Given the description of an element on the screen output the (x, y) to click on. 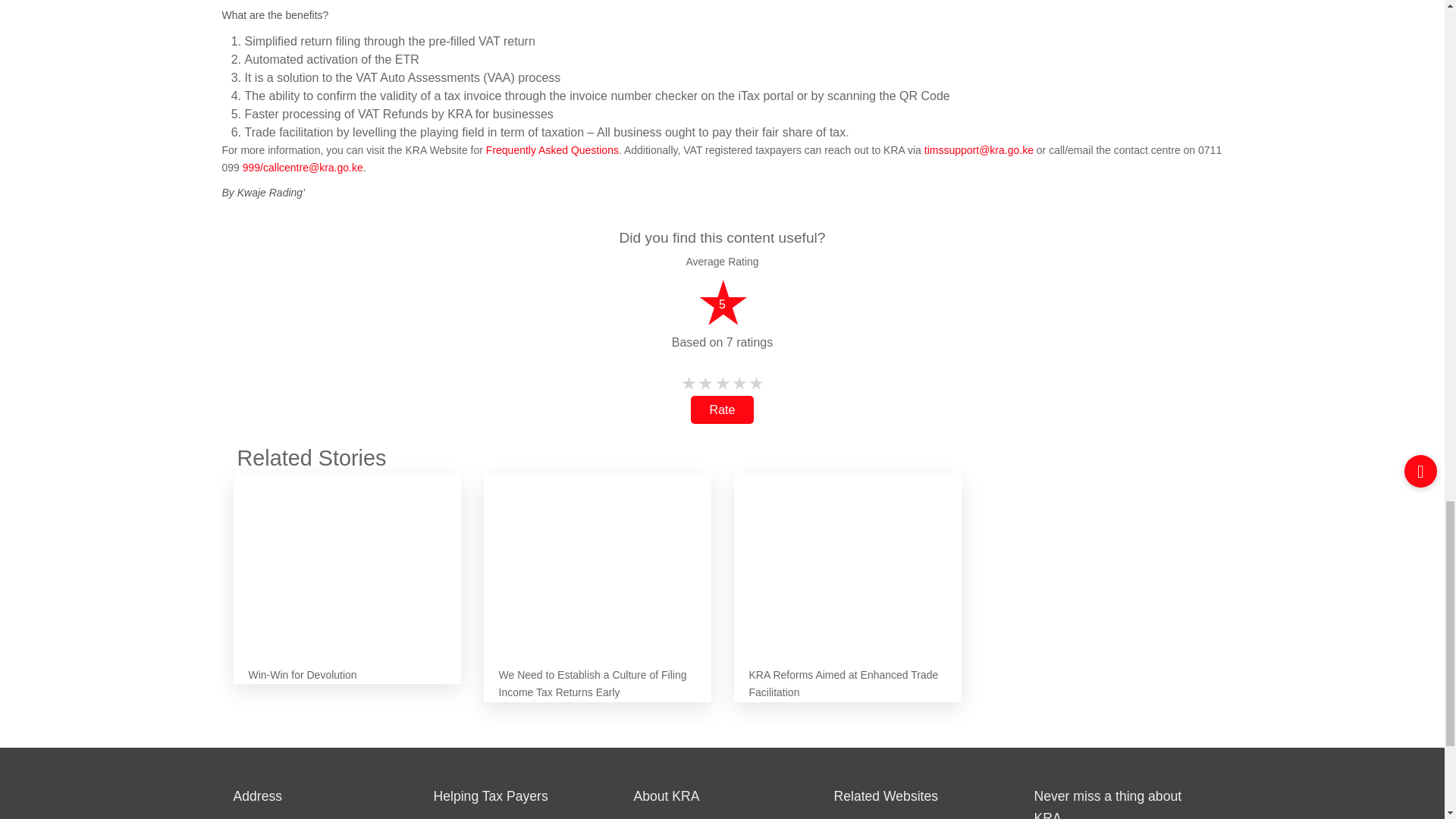
KRA Reforms Aimed at Enhanced Trade Facilitation (846, 556)
Win-Win for Devolution (346, 556)
